Given the description of an element on the screen output the (x, y) to click on. 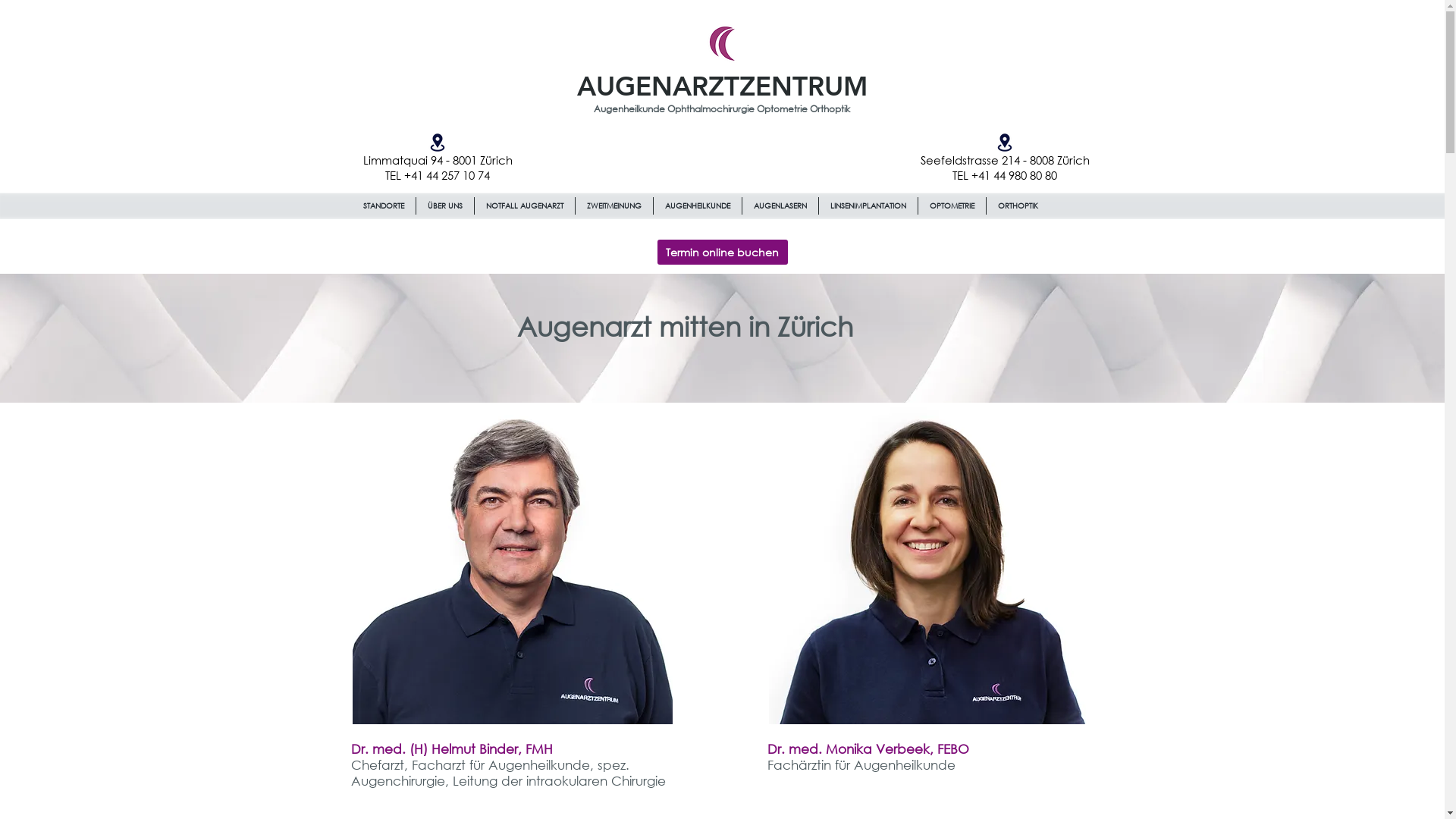
OPTOMETRIE Element type: text (951, 205)
LINSENIMPLANTATION Element type: text (868, 205)
Site Search Element type: hover (1003, 239)
AUGENHEILKUNDE Element type: text (697, 205)
AUGENARZT Element type: text (657, 85)
Termin online buchen Element type: text (721, 251)
ORTHOPTIK Element type: text (1016, 205)
STANDORTE Element type: text (383, 205)
NOTFALL AUGENARZT Element type: text (524, 205)
Ophthalmochirurgie  Element type: text (711, 108)
Augenheilkunde  Element type: text (630, 109)
Dr. med. Helmut Binder Element type: hover (511, 563)
ZWEITMEINUNG Element type: text (613, 205)
TEL +41 44 257 10 74 Element type: text (437, 176)
Optometrie Orthoptik Element type: text (803, 108)
ZENTRUM Element type: text (802, 85)
AUGENLASERN Element type: text (779, 205)
Dr. med. Monika Verbeek Element type: hover (928, 563)
TEL +41 44 980 80 80 Element type: text (1004, 176)
